Given the description of an element on the screen output the (x, y) to click on. 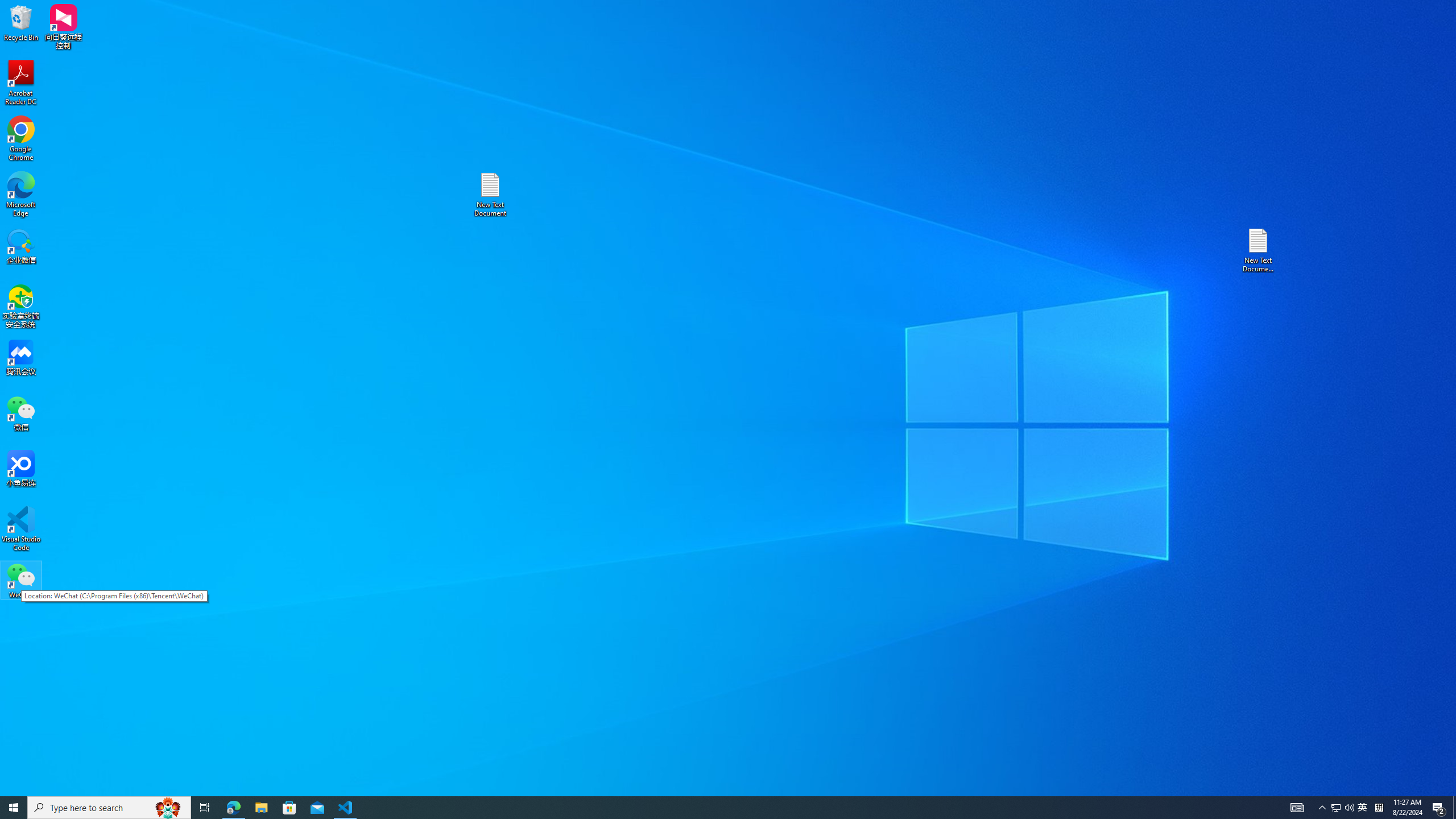
Microsoft Edge (21, 194)
Q2790: 100% (1349, 807)
Google Chrome (21, 138)
Type here to search (108, 807)
Start (1362, 807)
New Text Document (13, 807)
Acrobat Reader DC (1335, 807)
New Text Document (2) (489, 194)
Search highlights icon opens search home window (21, 82)
Notification Chevron (1258, 250)
